Given the description of an element on the screen output the (x, y) to click on. 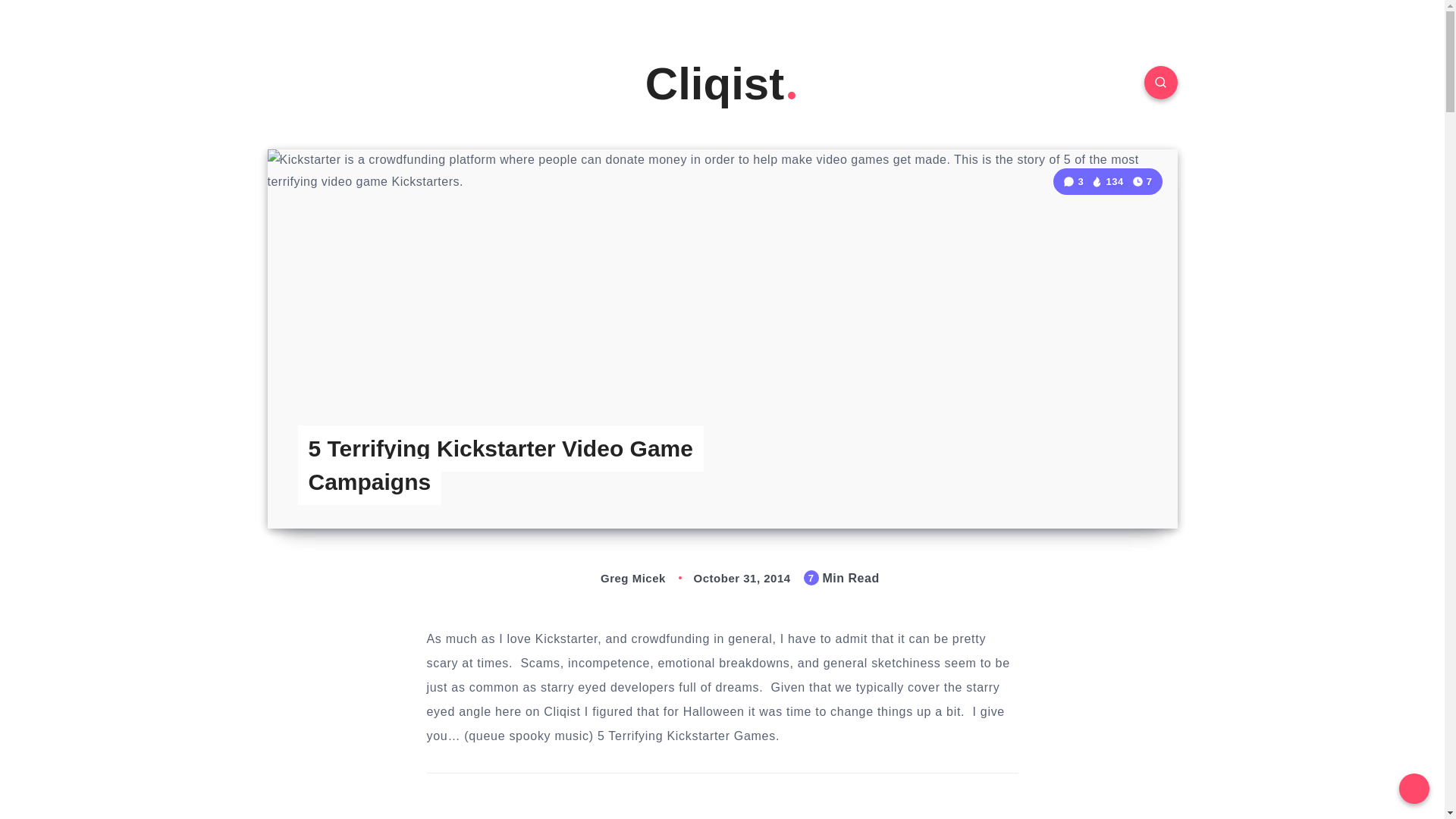
134 Views (1106, 181)
Author: Greg Micek (616, 577)
Cliqist (722, 83)
3 Comments (1074, 181)
3 (1074, 181)
Greg Micek (616, 577)
7 Min Read (1142, 181)
